Given the description of an element on the screen output the (x, y) to click on. 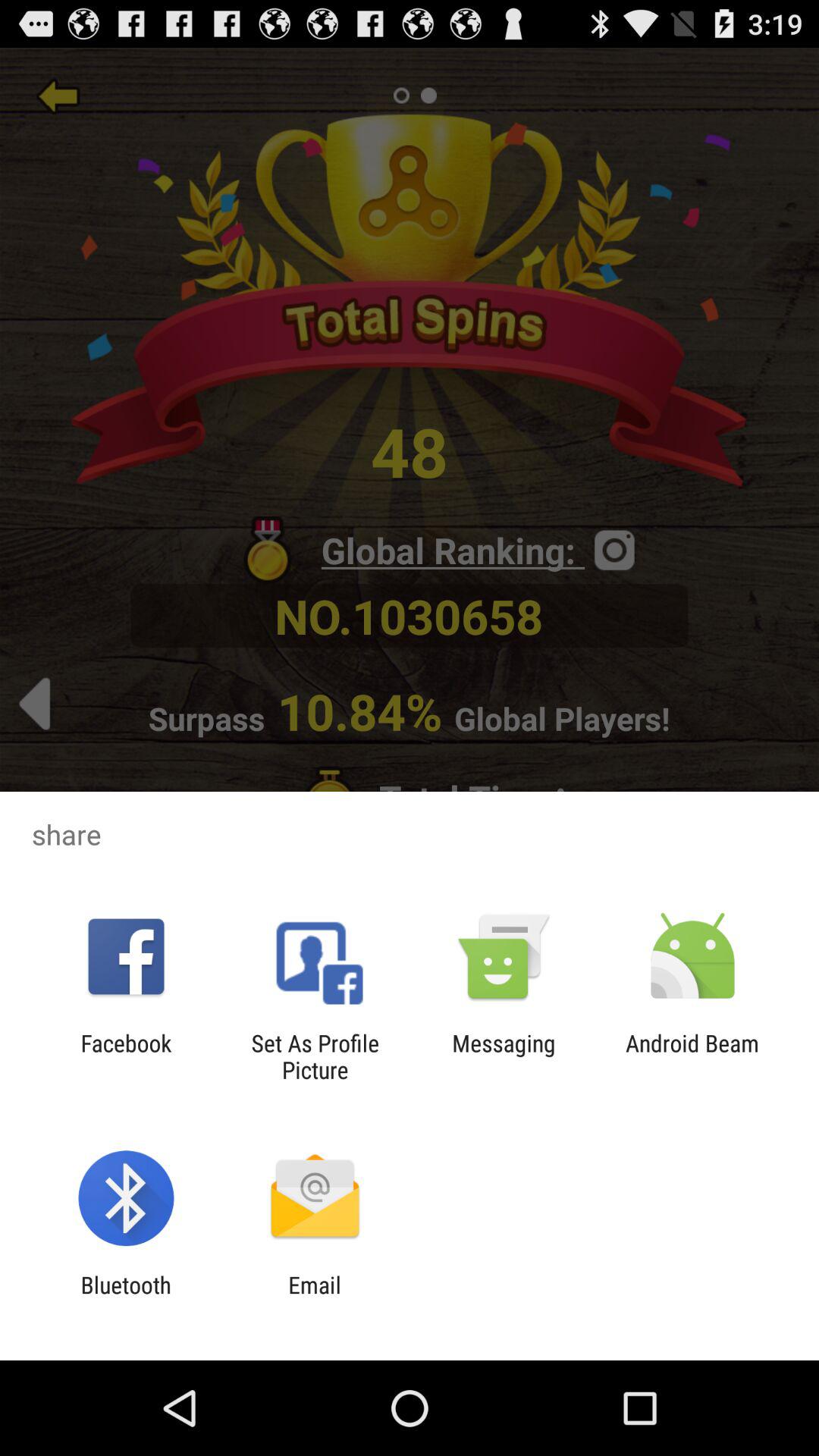
turn on the app next to set as profile icon (125, 1056)
